Given the description of an element on the screen output the (x, y) to click on. 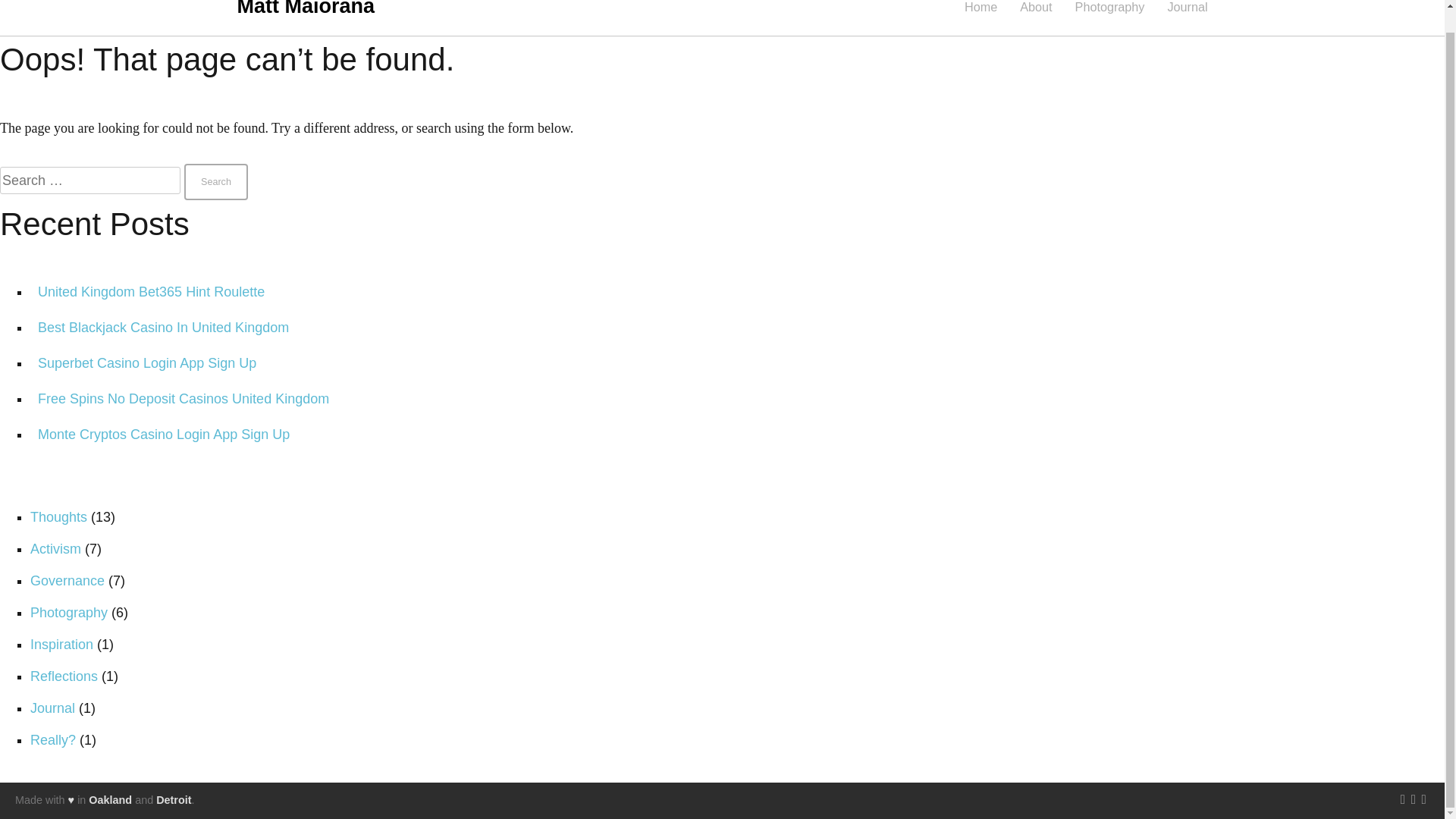
Photography (1109, 6)
Matt Maiorana (304, 8)
Really? (52, 739)
Home (980, 6)
Search (215, 181)
Inspiration (61, 644)
Monte Cryptos Casino Login App Sign Up (163, 434)
Search (215, 181)
Journal (1187, 6)
Superbet Casino Login App Sign Up (146, 363)
